Given the description of an element on the screen output the (x, y) to click on. 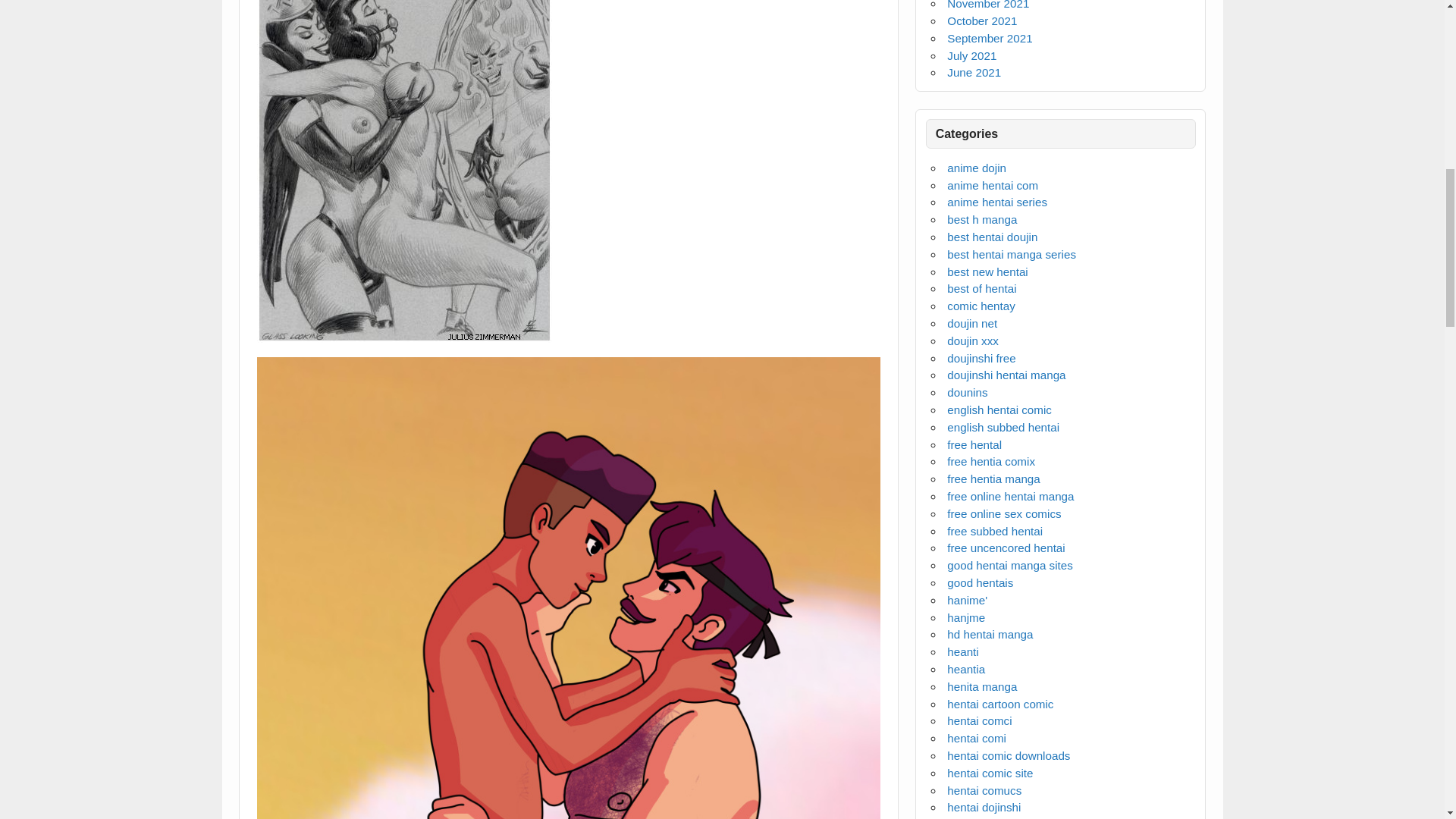
November 2021 (988, 4)
best hentai doujin (991, 236)
best new hentai (987, 271)
September 2021 (989, 38)
anime hentai com (992, 185)
best of hentai (981, 287)
best h manga (981, 219)
comic hentay (980, 305)
October 2021 (981, 20)
June 2021 (974, 72)
